Given the description of an element on the screen output the (x, y) to click on. 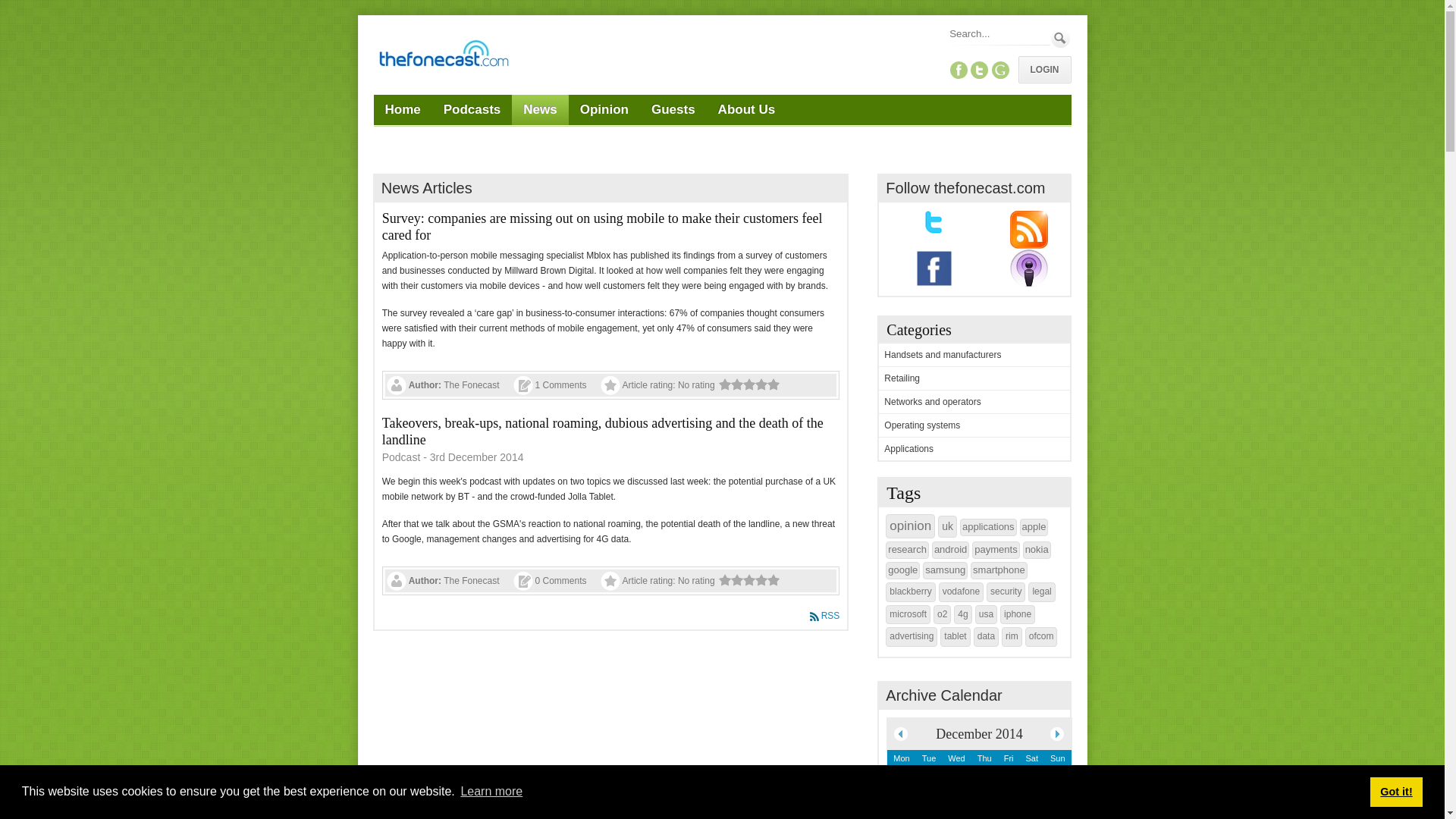
Search (1060, 37)
Opinion (604, 110)
Handsets and manufacturers (942, 354)
Retailing (901, 378)
TheFonecast.com (442, 55)
Clear search text (1036, 56)
Learn more (491, 791)
Twitter (979, 69)
Networks and operators (931, 401)
Facebook (959, 69)
Networks and operators (931, 401)
Retailing (901, 378)
The Fonecast (471, 385)
